Given the description of an element on the screen output the (x, y) to click on. 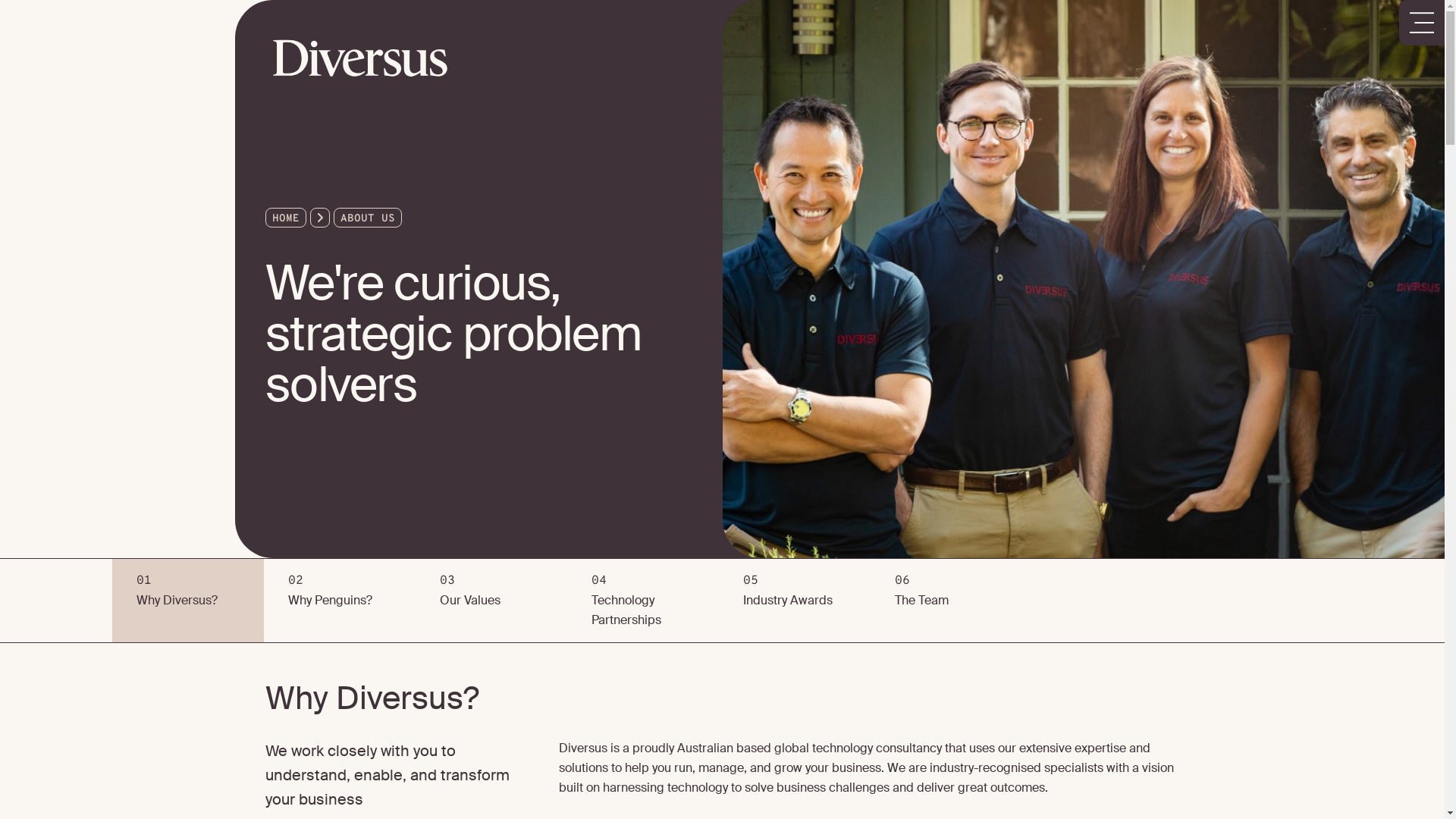
ABOUT US Element type: text (366, 218)
06
The Team Element type: text (946, 600)
05
Industry Awards Element type: text (794, 600)
02
Why Penguins? Element type: text (339, 600)
01
Why Diversus? Element type: text (187, 600)
HOME Element type: text (284, 218)
04
Technology Partnerships Element type: text (642, 600)
03
Our Values Element type: text (491, 600)
